Given the description of an element on the screen output the (x, y) to click on. 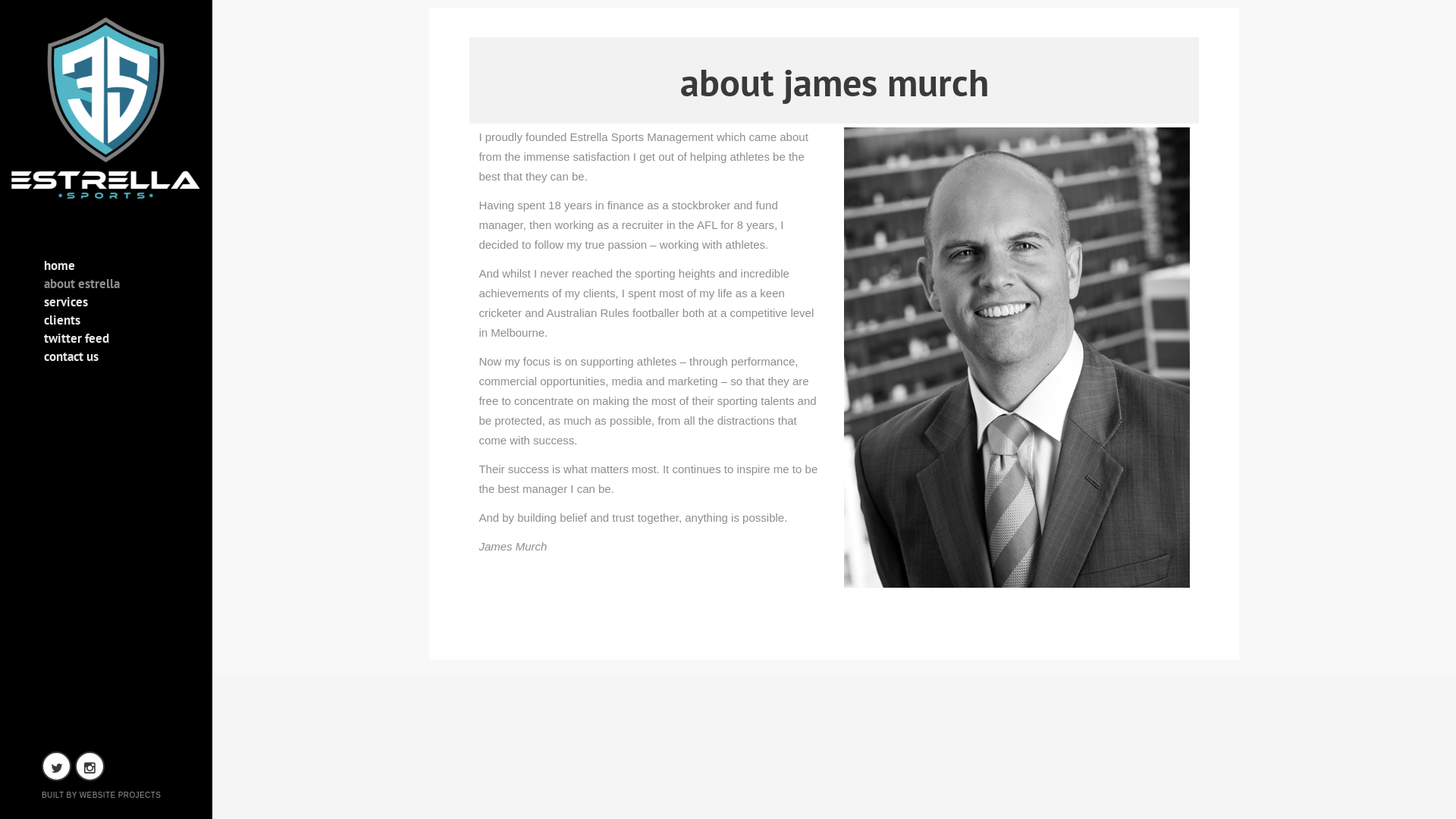
WEBSITE PROJECTS Element type: text (120, 794)
home Element type: text (106, 268)
about estrella Element type: text (106, 286)
contact us Element type: text (106, 359)
services Element type: text (106, 304)
twitter feed Element type: text (106, 341)
clients Element type: text (106, 322)
